Given the description of an element on the screen output the (x, y) to click on. 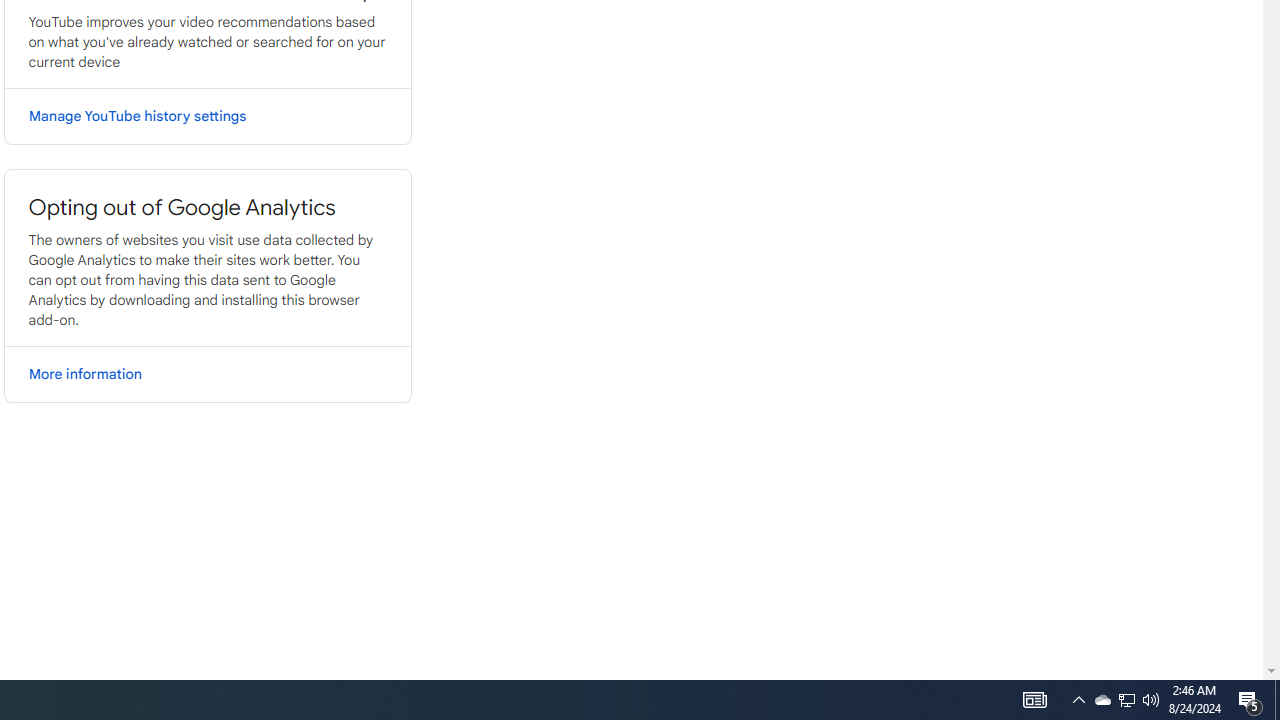
More information (206, 374)
Manage YouTube history settings (206, 116)
